Given the description of an element on the screen output the (x, y) to click on. 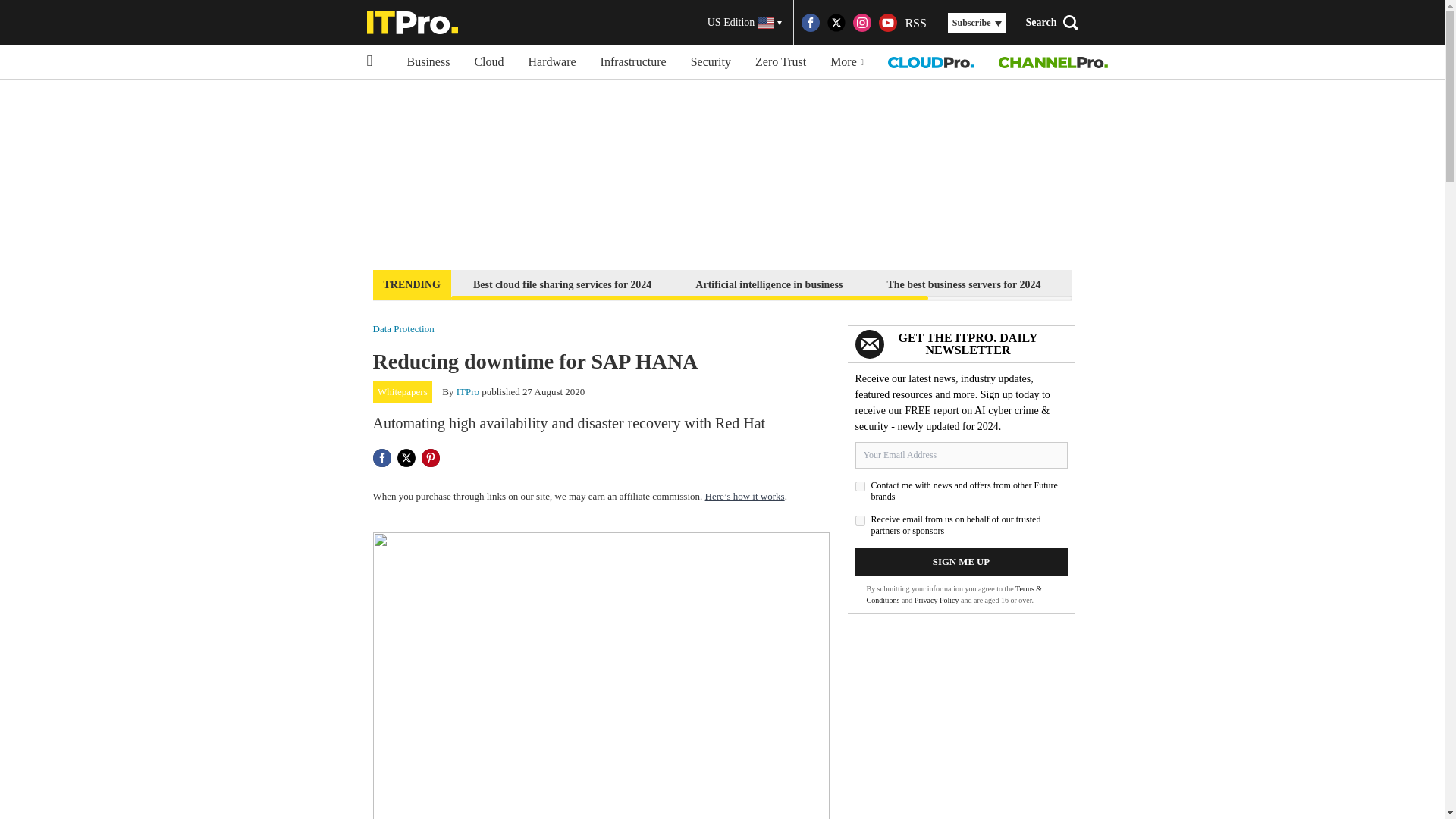
Best cloud file sharing services for 2024 (561, 284)
Sign me up (961, 561)
Zero Trust (780, 61)
Business (427, 61)
US Edition (745, 22)
ITPro (468, 391)
Hardware (552, 61)
The best business servers for 2024 (962, 284)
Security (710, 61)
on (860, 486)
